Given the description of an element on the screen output the (x, y) to click on. 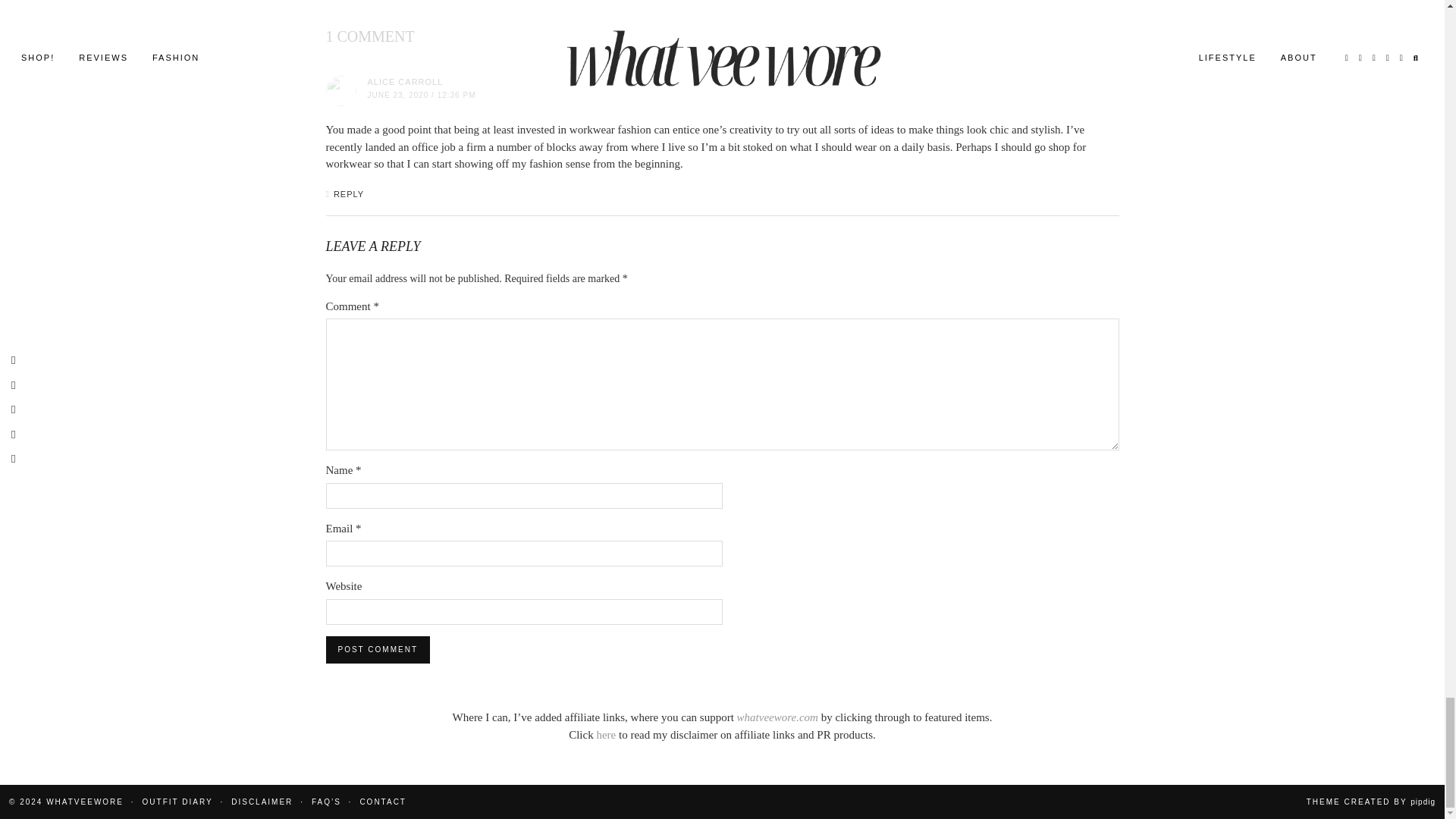
Post Comment (377, 649)
